Given the description of an element on the screen output the (x, y) to click on. 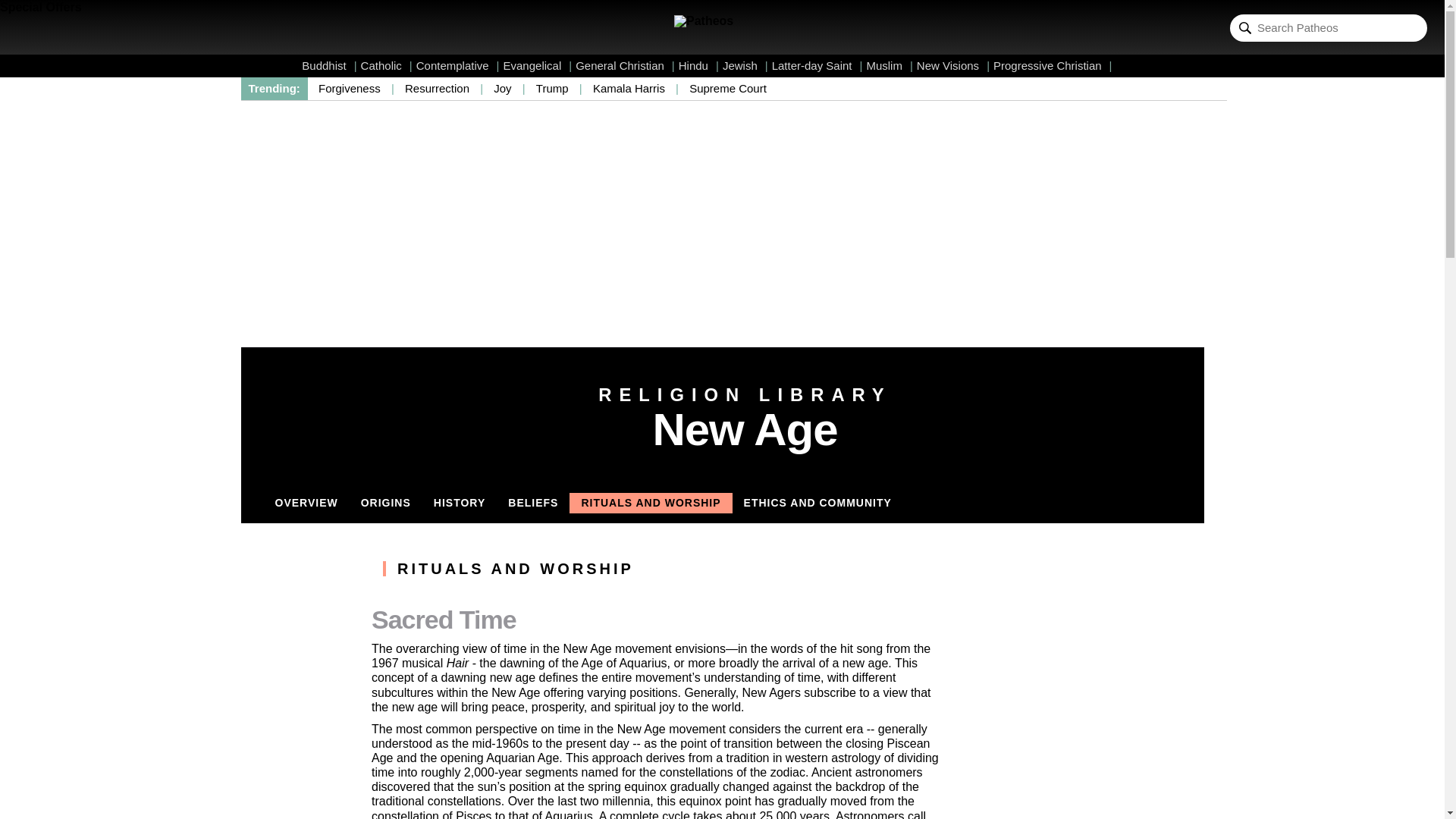
Muslim (889, 65)
Latter-day Saint (817, 65)
Catholic (386, 65)
Hindu (698, 65)
Jewish (745, 65)
Buddhist (328, 65)
New Visions (953, 65)
Special Offers (40, 6)
Progressive Christian (1052, 65)
Contemplative (457, 65)
